Given the description of an element on the screen output the (x, y) to click on. 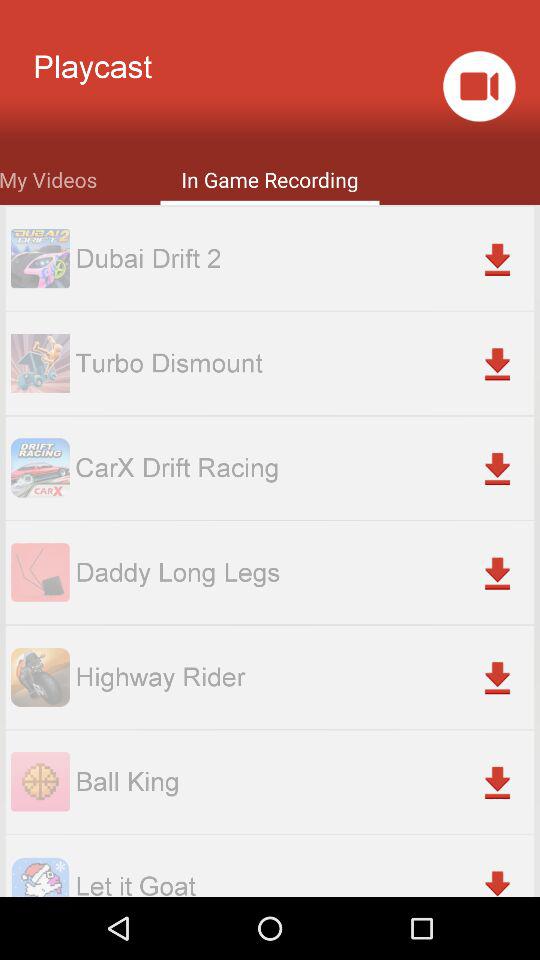
launch highway rider icon (304, 676)
